Given the description of an element on the screen output the (x, y) to click on. 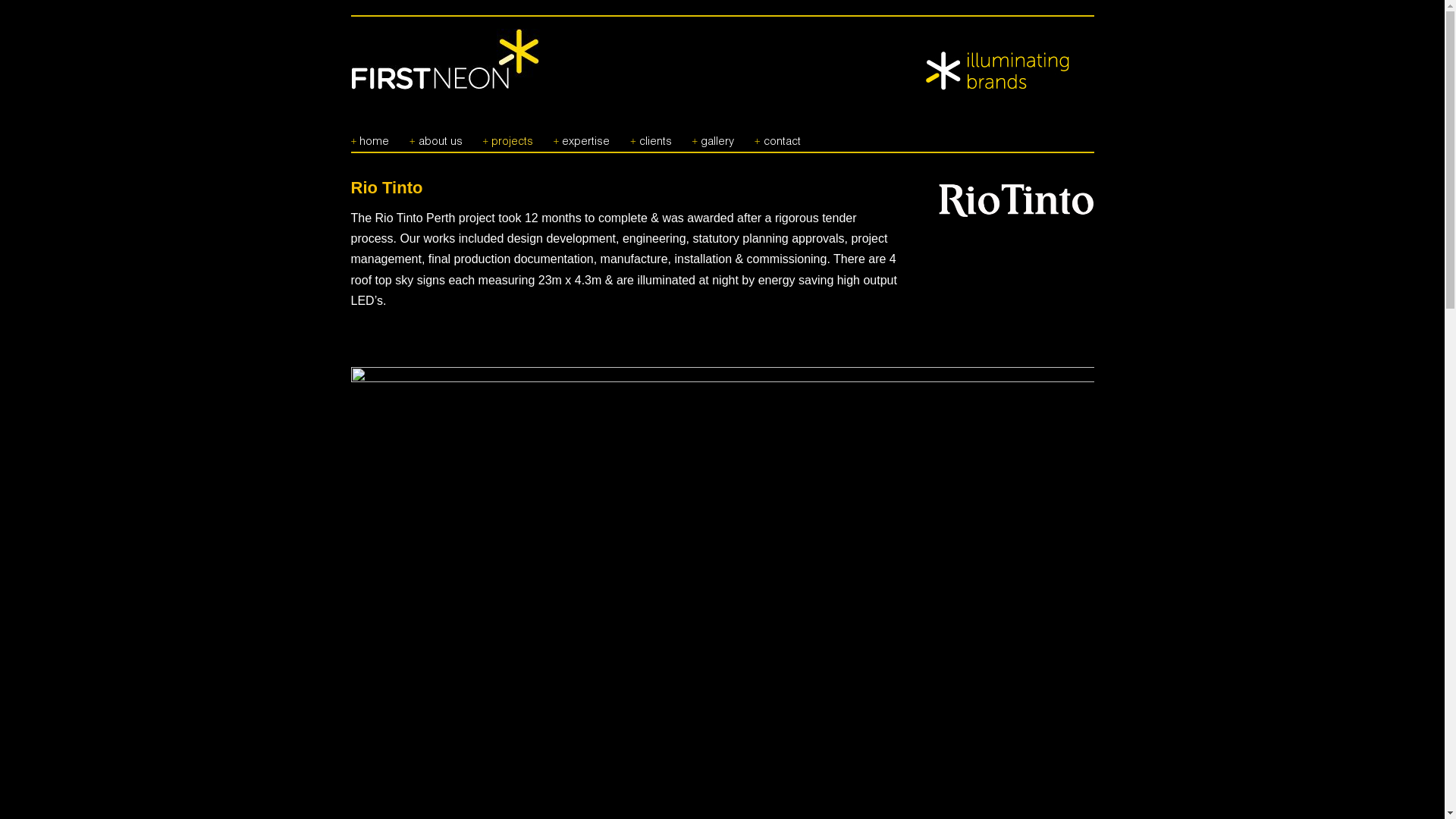
projects Element type: text (507, 135)
clients Element type: text (650, 135)
home Element type: text (369, 135)
gallery Element type: text (712, 135)
expertise Element type: text (581, 135)
contact Element type: text (777, 135)
about us Element type: text (435, 135)
